Given the description of an element on the screen output the (x, y) to click on. 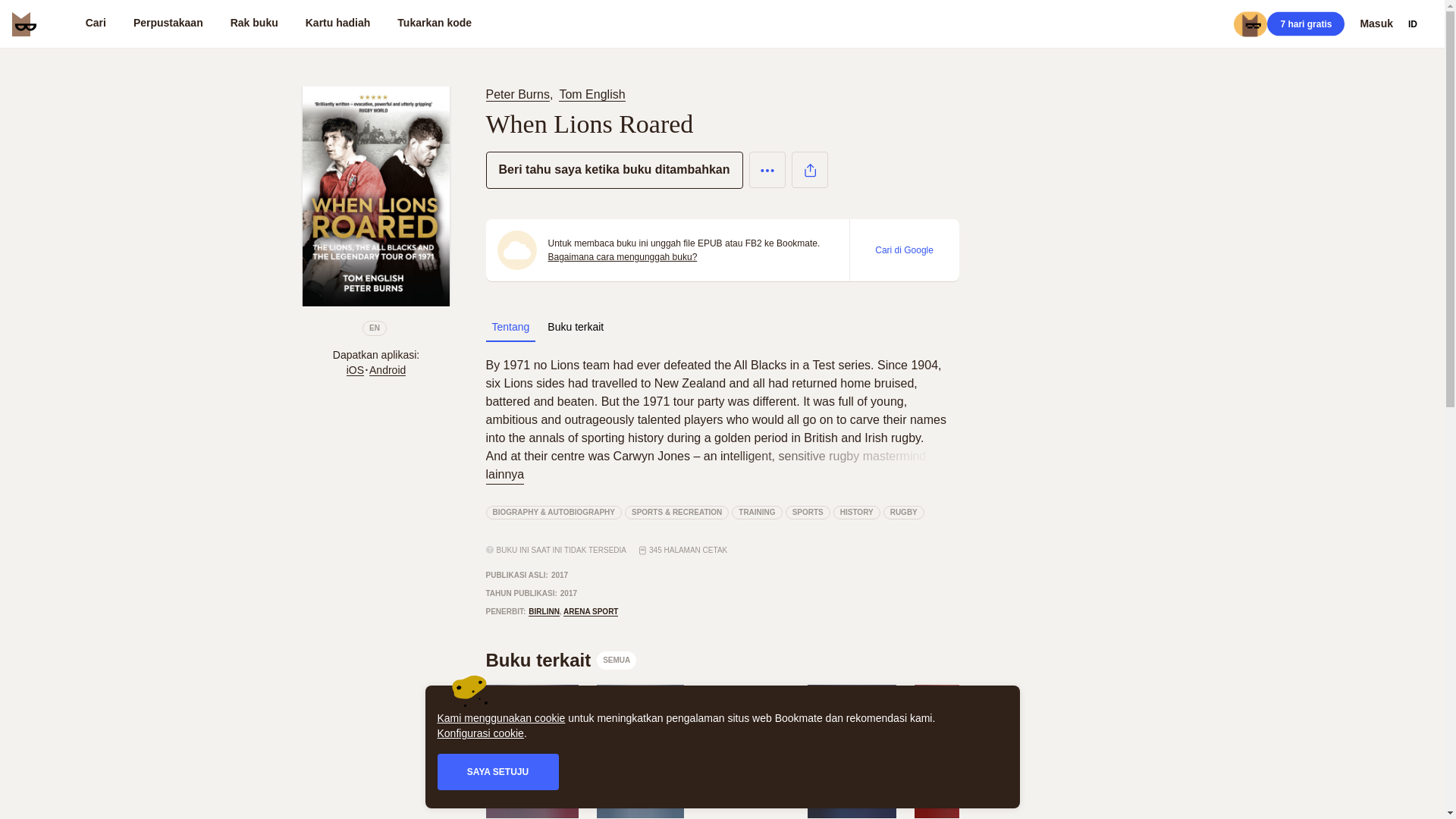
Cari (560, 660)
Kartu hadiah (94, 24)
HISTORY (337, 24)
Buku terkait (856, 512)
Tentang (531, 751)
RUGBY (575, 327)
BIRLINN (509, 327)
7 hari gratis (903, 512)
Peter Burns, Tom English (543, 611)
Cari di Google (638, 751)
